Given the description of an element on the screen output the (x, y) to click on. 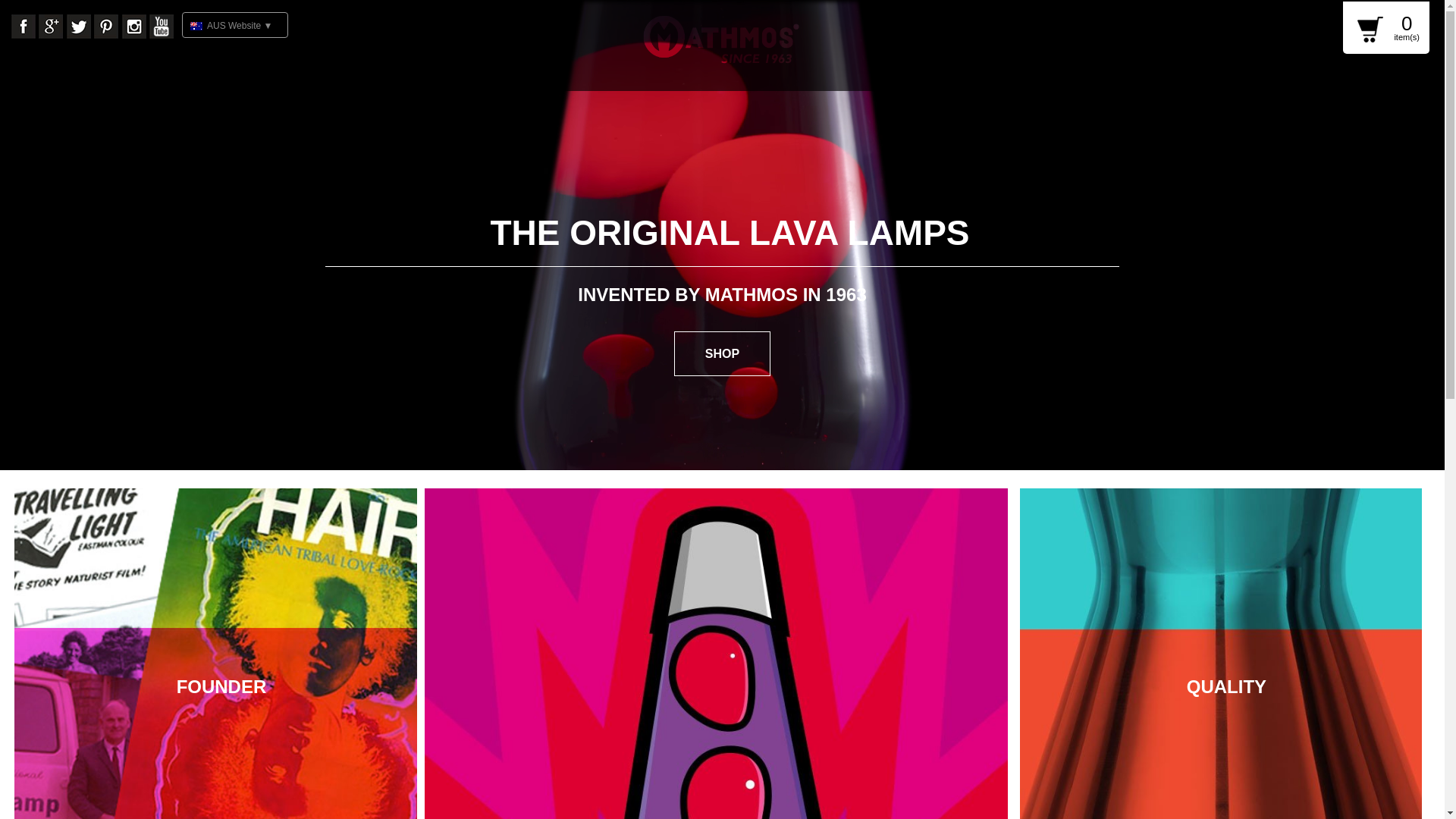
INVENTED BY MATHMOS IN 1963 Element type: text (721, 294)
SHOP Element type: text (722, 353)
THE ORIGINAL LAVA LAMPS Element type: text (729, 232)
